Given the description of an element on the screen output the (x, y) to click on. 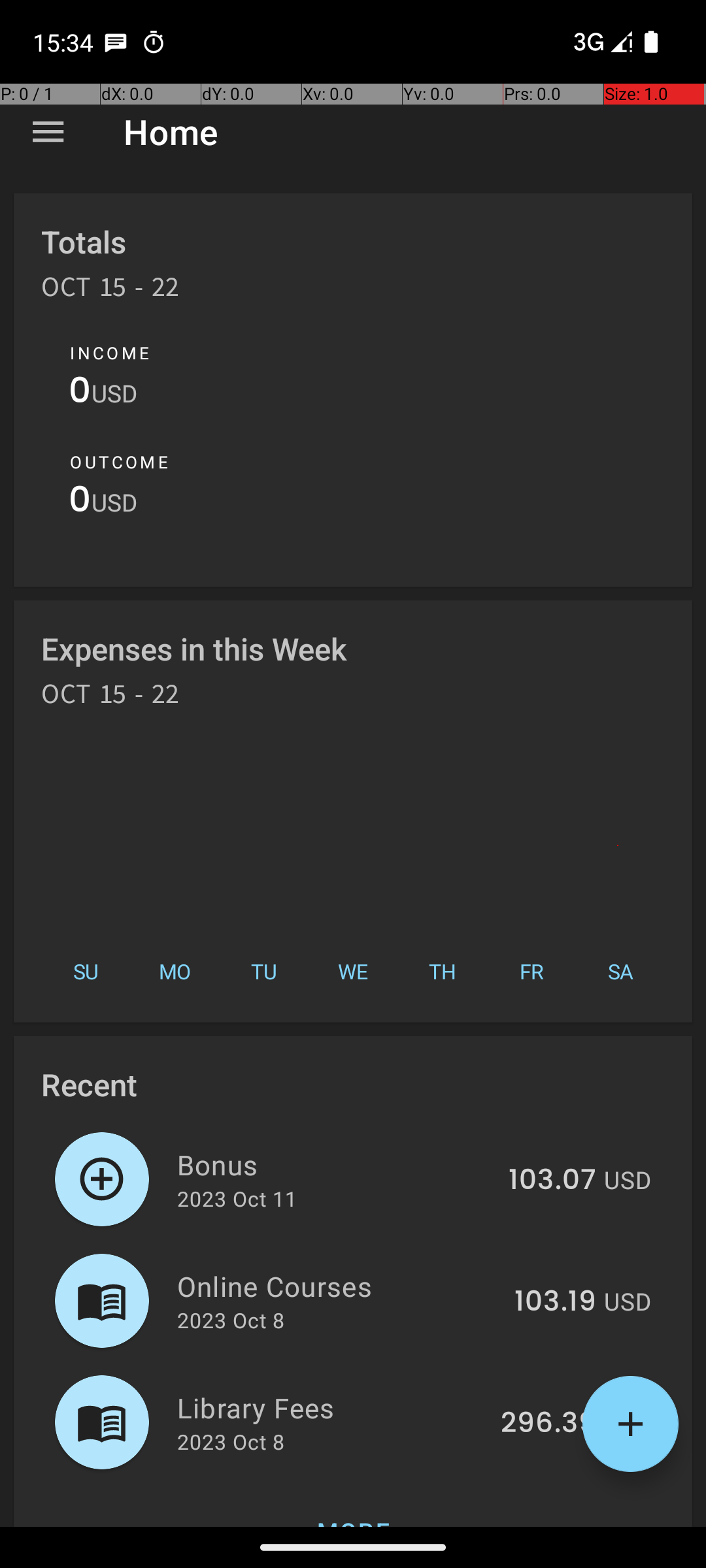
103.07 Element type: android.widget.TextView (551, 1180)
Online Courses Element type: android.widget.TextView (338, 1285)
103.19 Element type: android.widget.TextView (554, 1301)
296.39 Element type: android.widget.TextView (548, 1423)
